Given the description of an element on the screen output the (x, y) to click on. 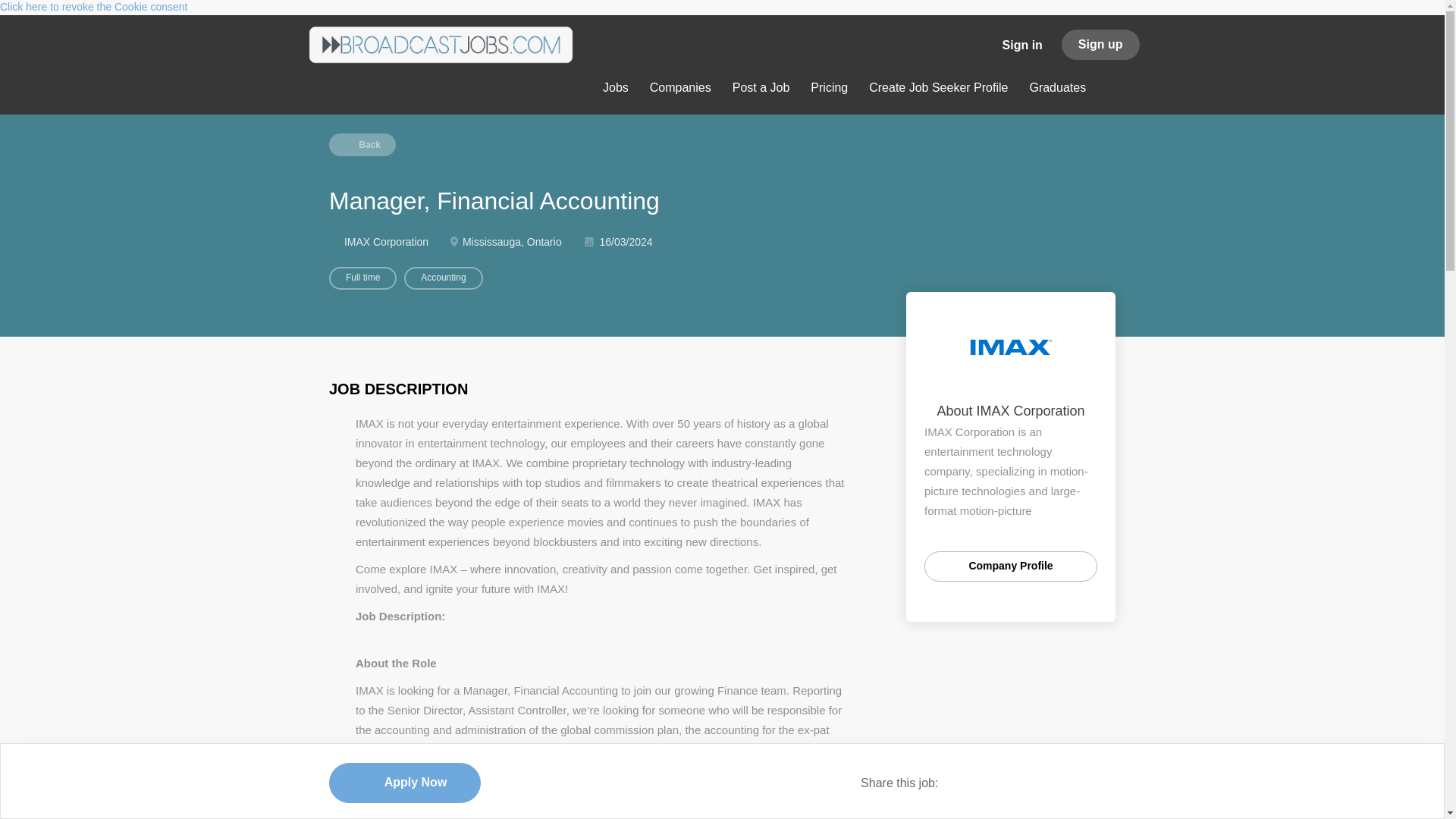
Sign in (1022, 43)
Jobs (615, 90)
Post a Job (761, 90)
Apply Now (404, 782)
Graduates (1057, 90)
Click here to revoke the Cookie consent (93, 6)
Sign up (1100, 44)
Company Profile (1010, 566)
Back (362, 144)
Pricing (828, 90)
